Given the description of an element on the screen output the (x, y) to click on. 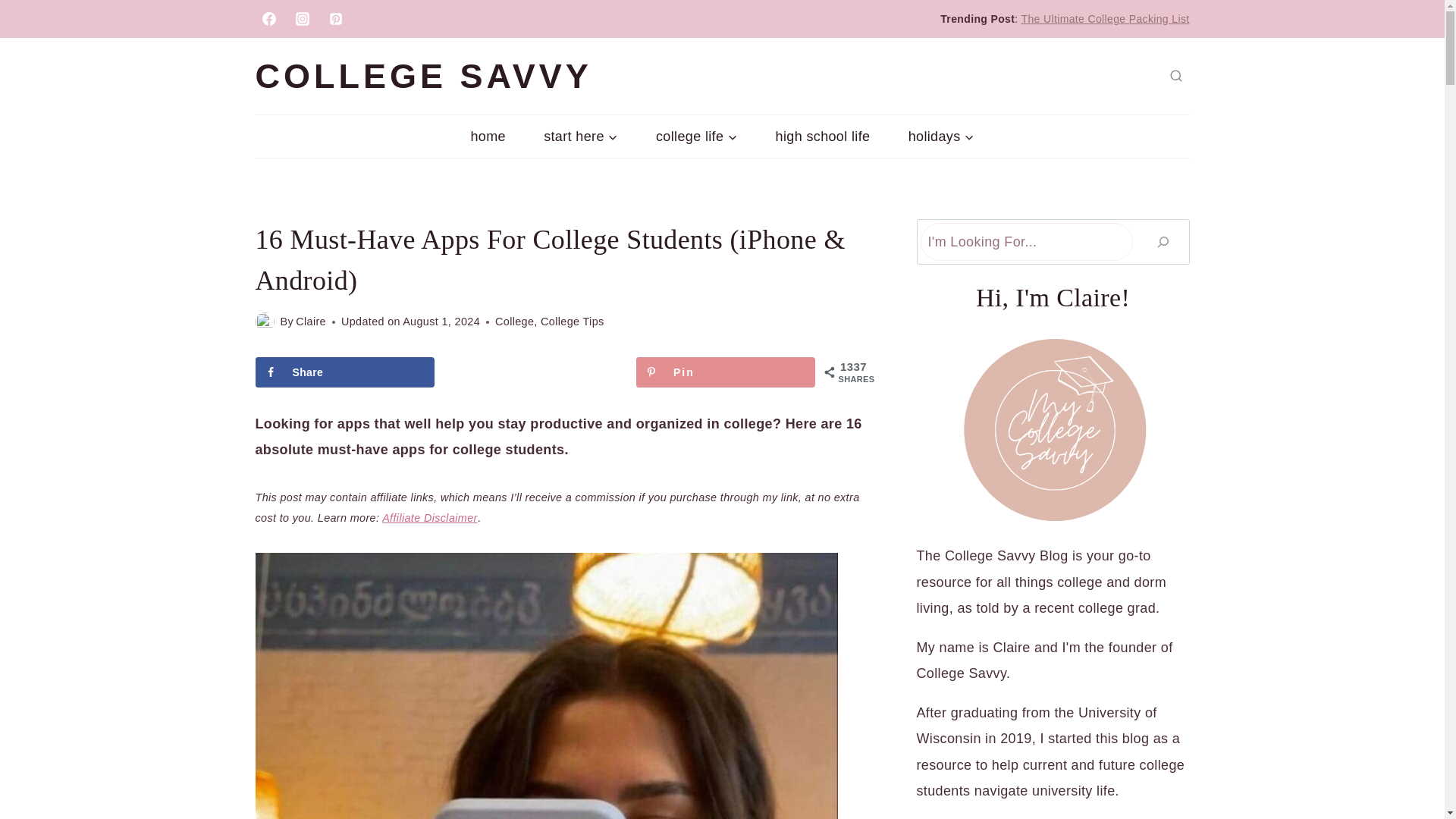
high school life (821, 136)
Affiliate Disclaimer (429, 517)
Share (343, 372)
Share on Facebook (343, 372)
Share on X (534, 372)
Save to Pinterest (725, 372)
College (514, 321)
The Ultimate College Packing List (1105, 19)
home (487, 136)
Claire (310, 321)
